Given the description of an element on the screen output the (x, y) to click on. 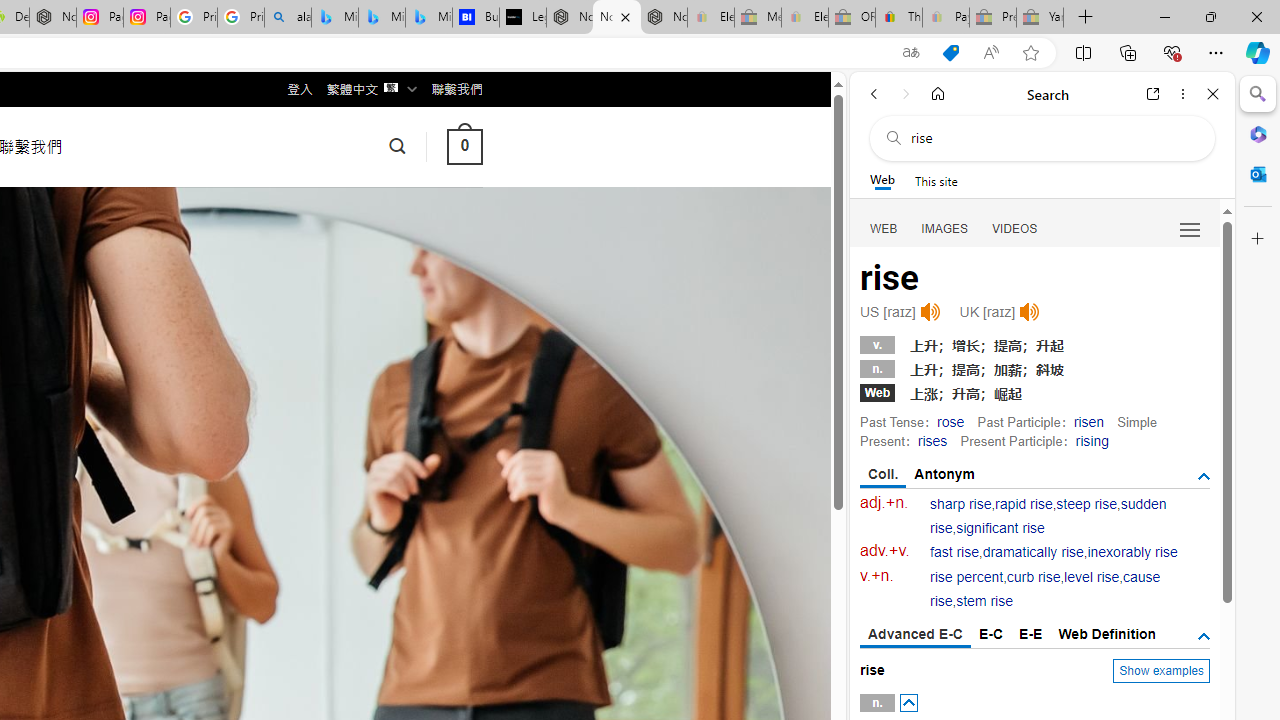
significant rise (1000, 528)
rising (1091, 440)
level rise (1091, 577)
AutomationID: tgsb (1203, 476)
rise percent (966, 577)
Coll. (883, 475)
fast rise (955, 552)
